Given the description of an element on the screen output the (x, y) to click on. 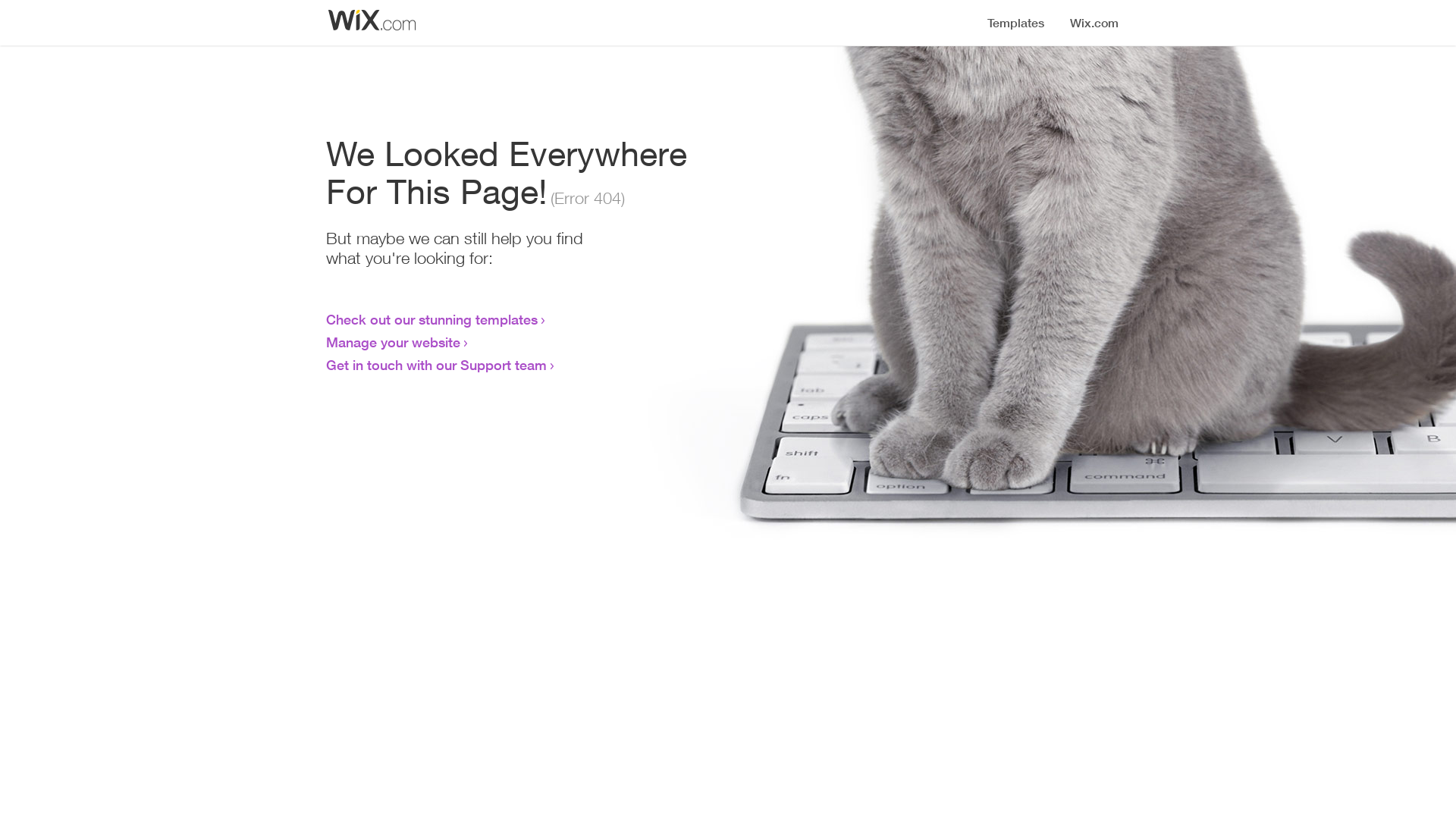
Manage your website Element type: text (393, 341)
Get in touch with our Support team Element type: text (436, 364)
Check out our stunning templates Element type: text (431, 318)
